Given the description of an element on the screen output the (x, y) to click on. 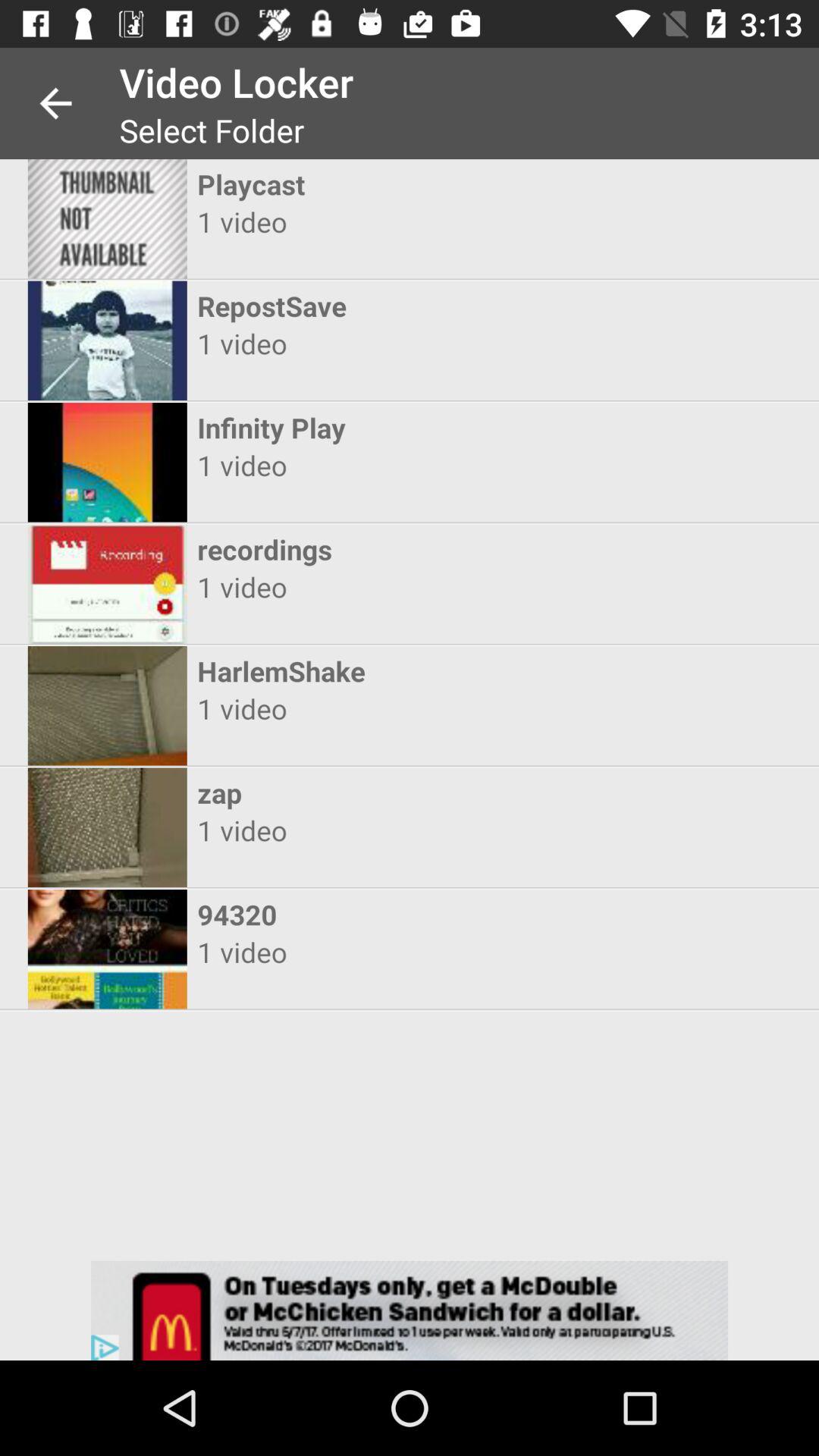
launch the repostsave item (396, 305)
